Given the description of an element on the screen output the (x, y) to click on. 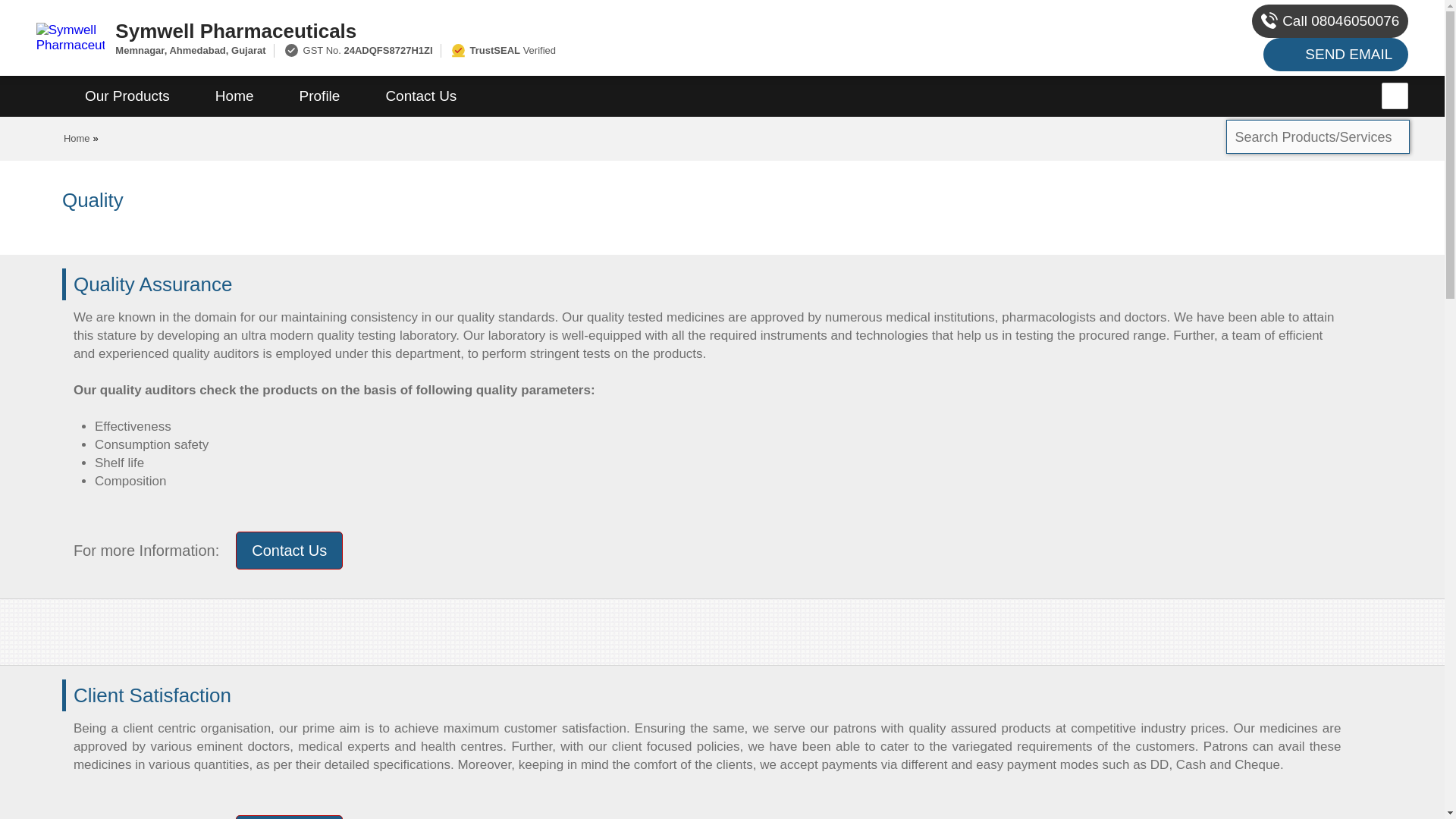
Contact Us (420, 96)
Home (234, 96)
Symwell Pharmaceuticals (552, 31)
Our Products (127, 96)
Profile (319, 96)
Home (77, 138)
